Given the description of an element on the screen output the (x, y) to click on. 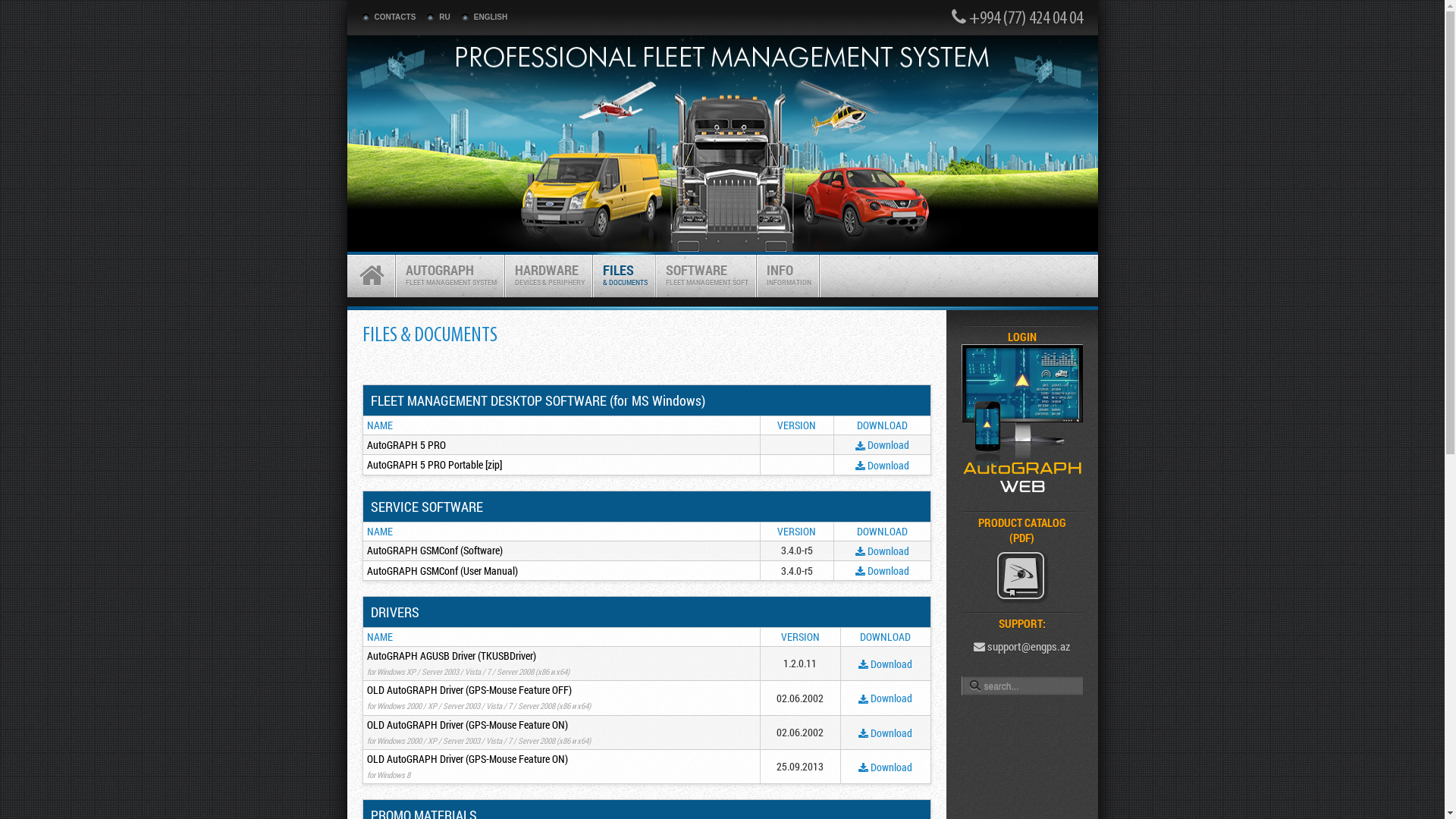
FILES
& DOCUMENTS Element type: text (624, 274)
HARDWARE
DEVICES & PERIPHERY Element type: text (549, 274)
Reset Element type: text (3, 3)
CONTACTS Element type: text (389, 16)
INFO
INFORMATION Element type: text (787, 274)
support@engps.az Element type: text (1021, 645)
ENGLISH Element type: text (484, 16)
Download Element type: text (885, 663)
FILES & DOCUMENTS Element type: text (431, 335)
LOGIN Element type: text (1021, 336)
AUTOGRAPH
FLEET MANAGEMENT SYSTEM Element type: text (450, 274)
Download Element type: text (882, 570)
SOFTWARE
FLEET MANAGEMENT SOFT Element type: text (706, 274)
   Element type: text (371, 274)
Download Element type: text (882, 465)
RU Element type: text (437, 16)
Download Element type: text (885, 697)
PRODUCT CATALOG
(PDF) Element type: text (1022, 562)
AutoGRAPH.WEB LOGIN Element type: hover (1021, 488)
Download Element type: text (882, 550)
Download Element type: text (885, 766)
Download Element type: text (885, 732)
Download Element type: text (882, 444)
